Given the description of an element on the screen output the (x, y) to click on. 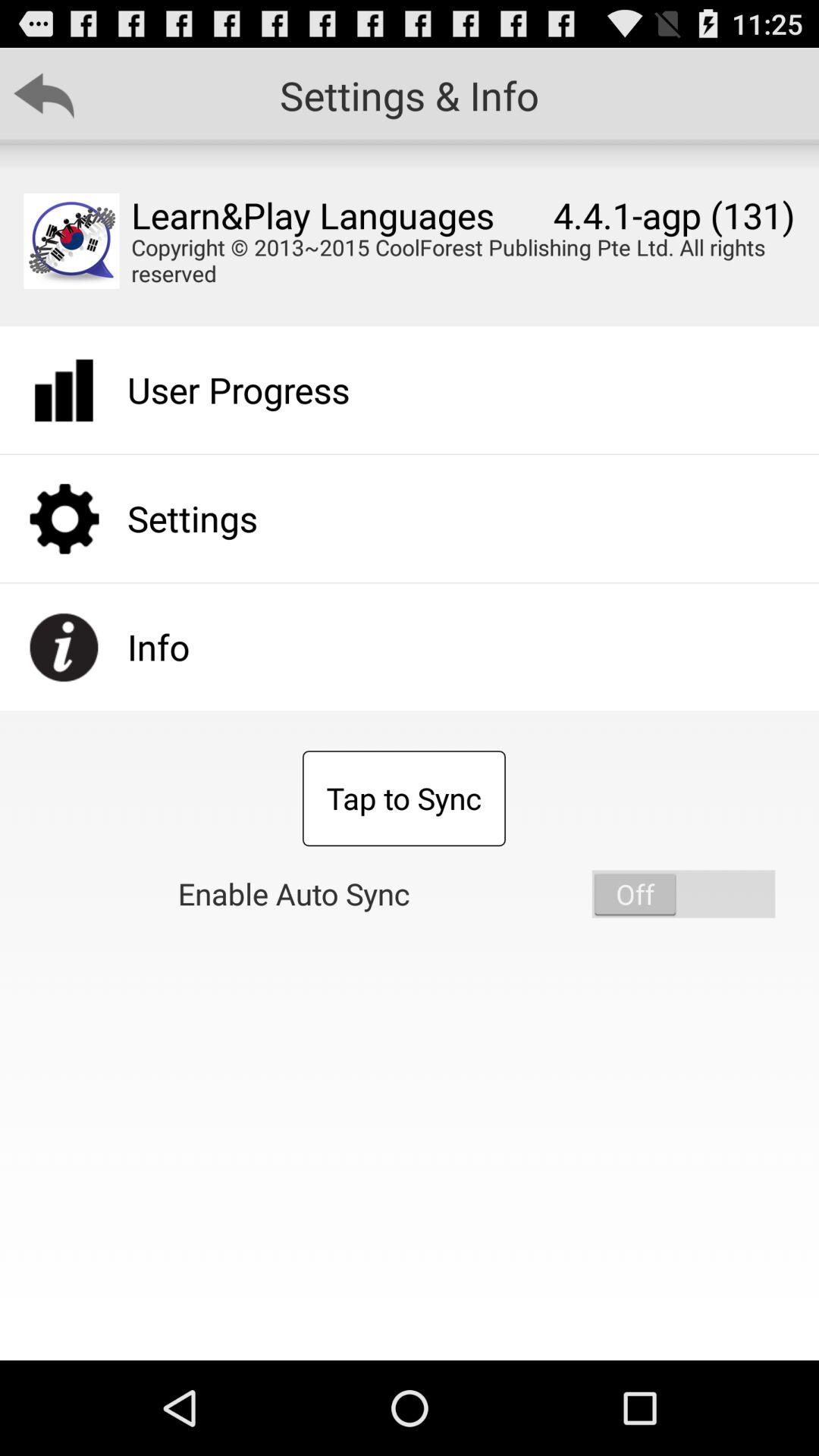
click the app above enable auto sync item (403, 798)
